Given the description of an element on the screen output the (x, y) to click on. 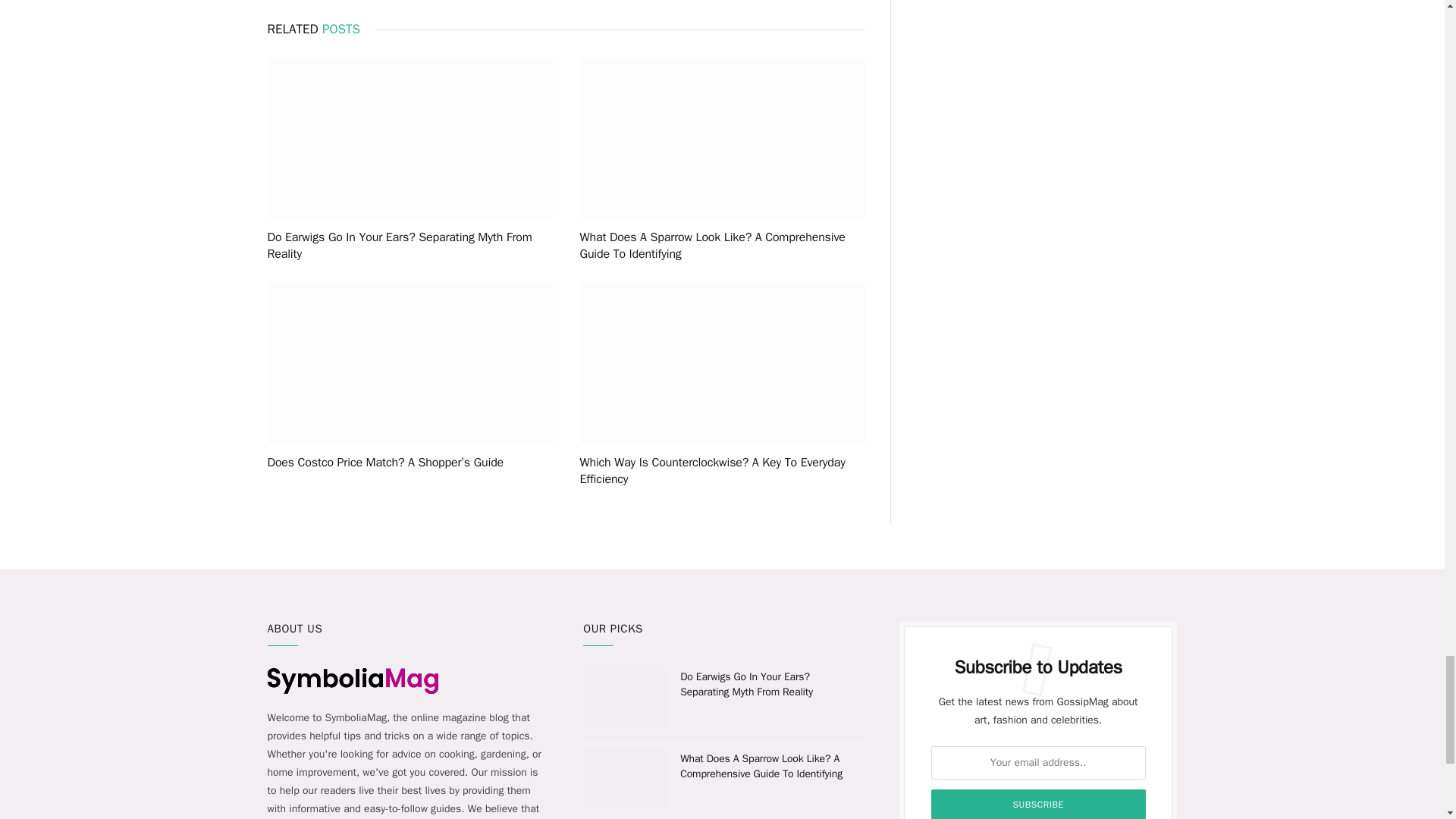
Subscribe (1038, 804)
Do Earwigs Go In Your Ears? Separating Myth From Reality  (408, 246)
